Given the description of an element on the screen output the (x, y) to click on. 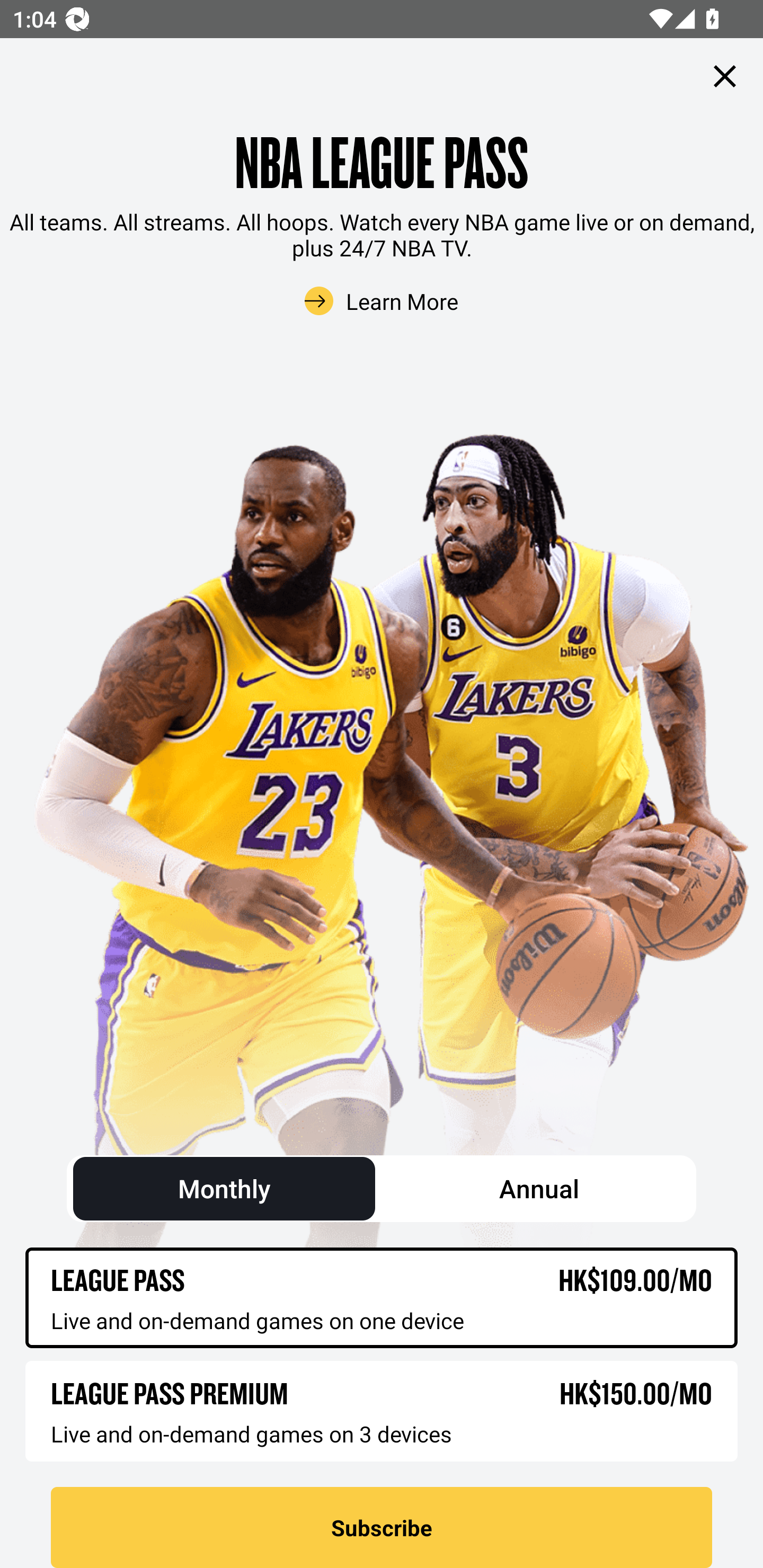
Close (724, 75)
Learn More (381, 300)
Annual (538, 1185)
Subscribe (381, 1527)
